Given the description of an element on the screen output the (x, y) to click on. 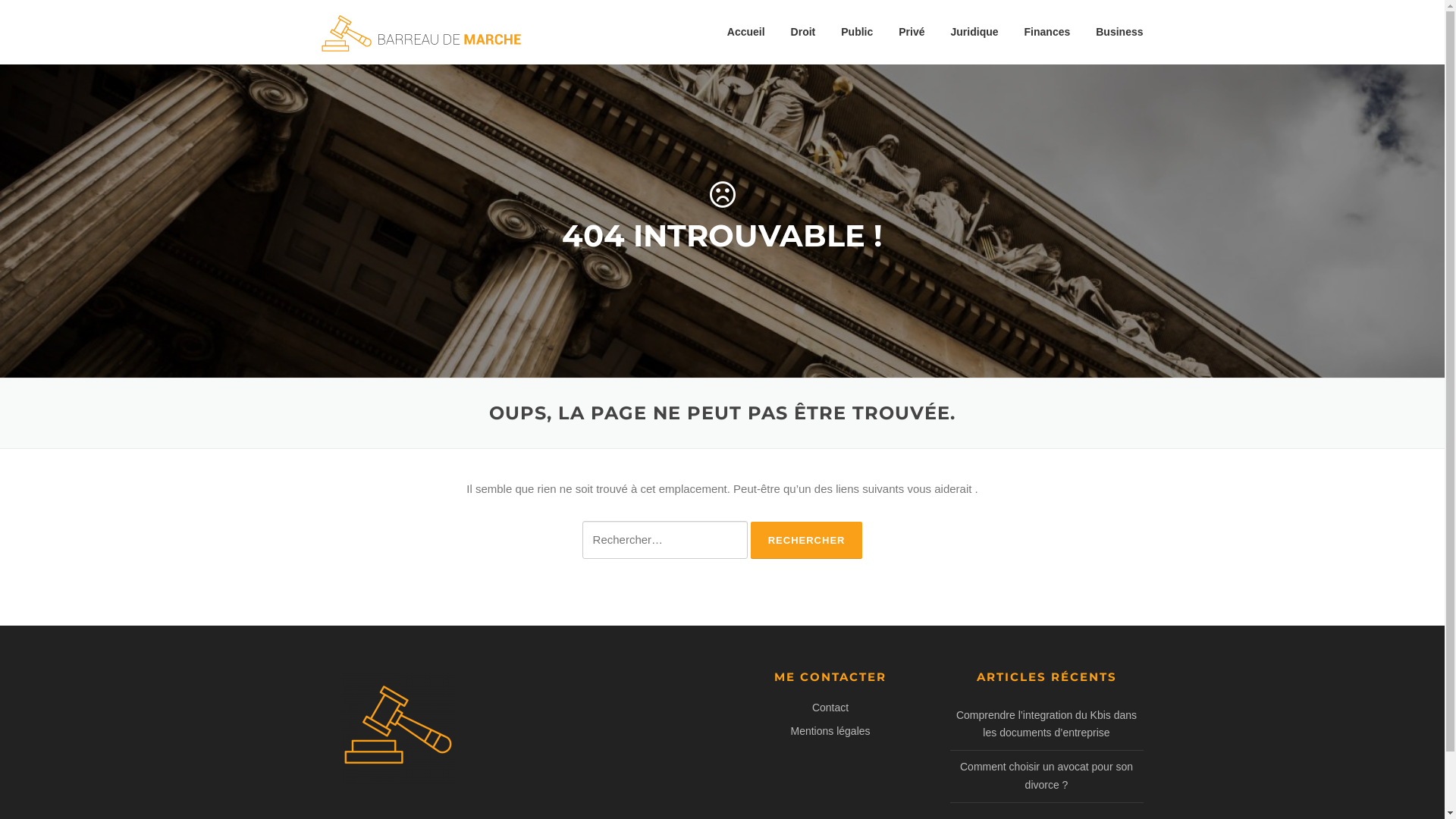
Comment choisir un avocat pour son divorce ? Element type: text (1046, 775)
Rechercher Element type: text (806, 539)
Juridique Element type: text (974, 32)
Public Element type: text (856, 32)
Accueil Element type: text (746, 32)
Droit Element type: text (803, 32)
Contact Element type: text (830, 707)
Business Element type: text (1112, 32)
Finances Element type: text (1047, 32)
